Given the description of an element on the screen output the (x, y) to click on. 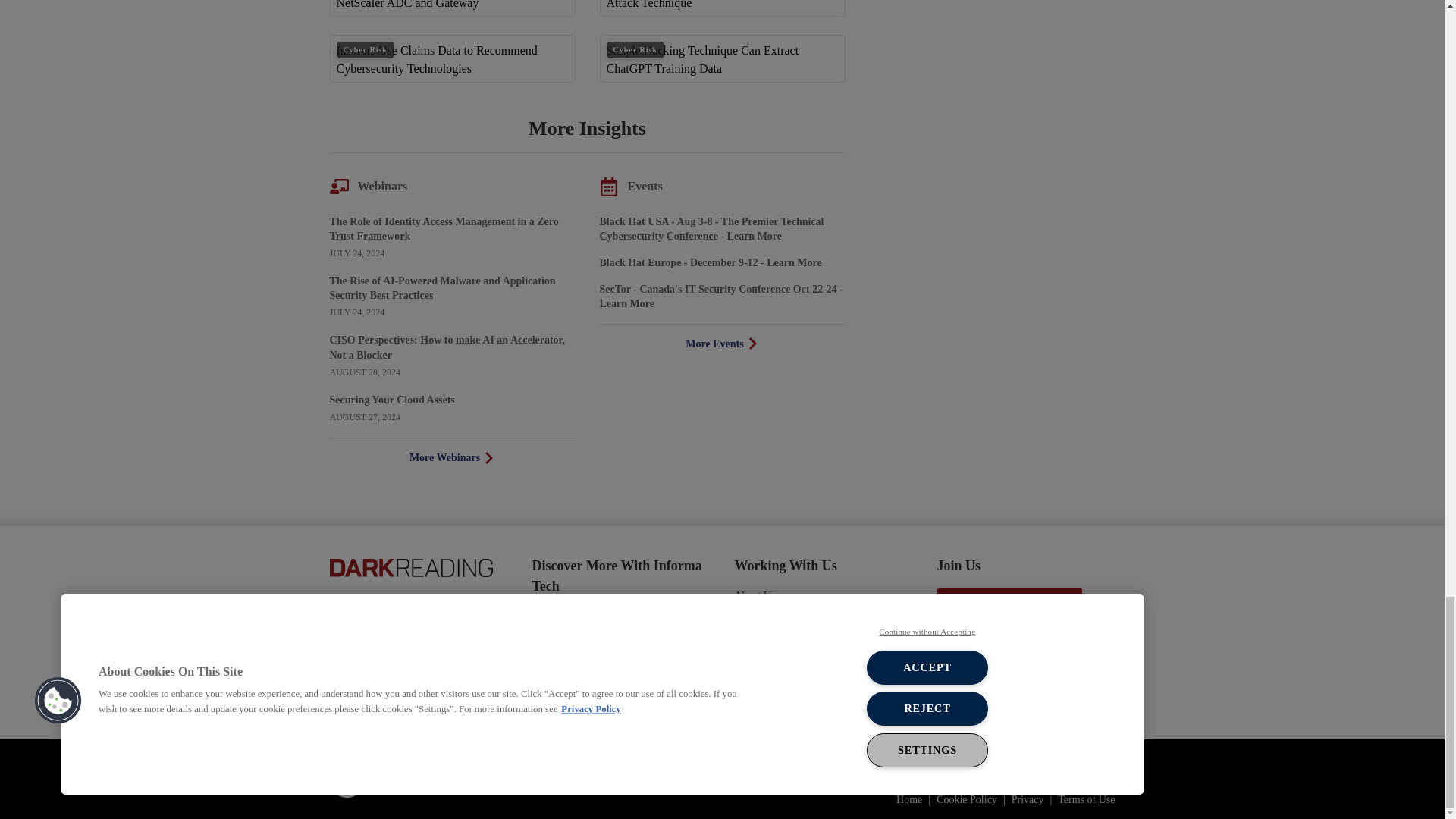
Logo (410, 566)
Informa Tech (404, 779)
